Given the description of an element on the screen output the (x, y) to click on. 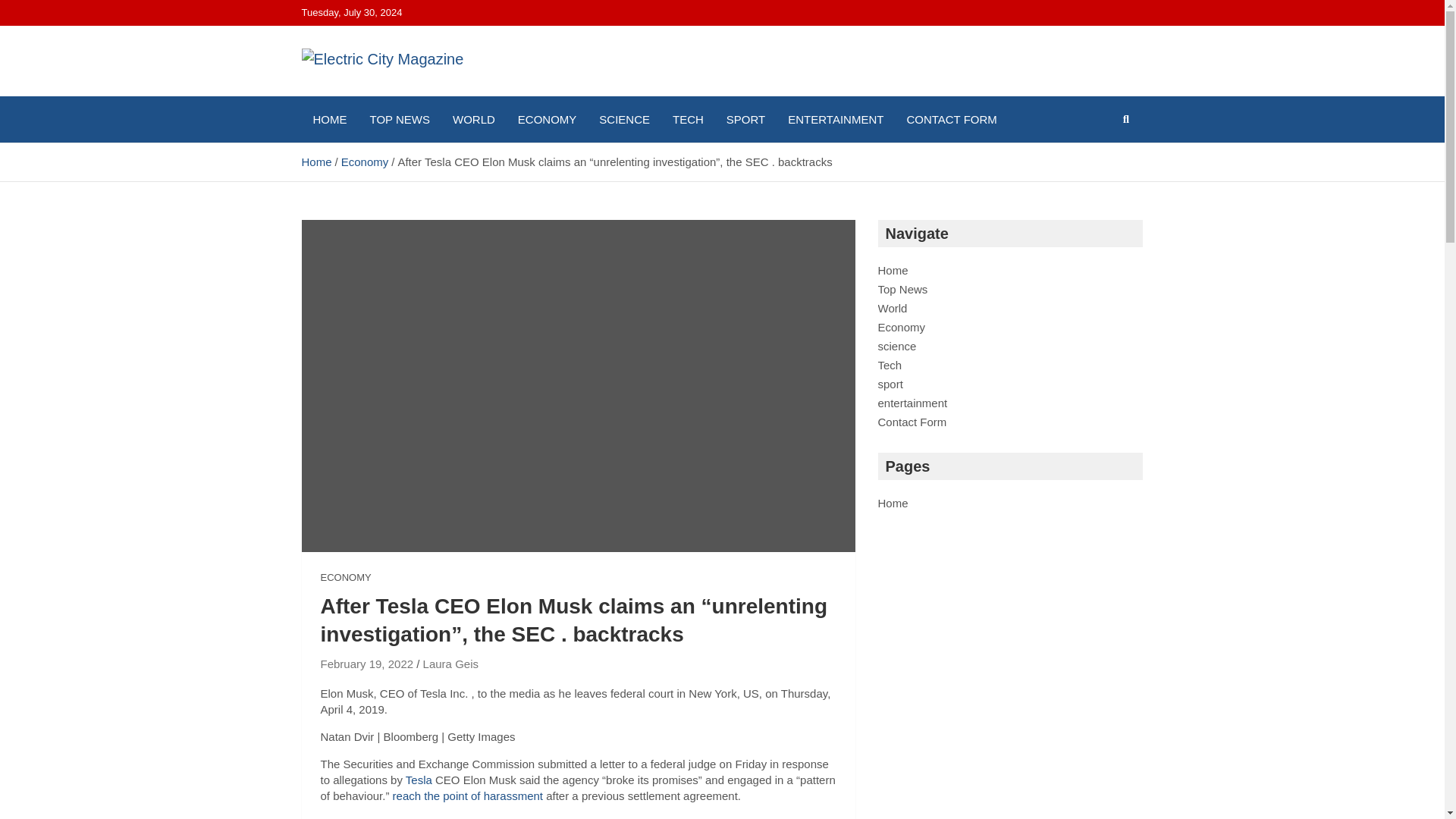
Home (892, 269)
WORLD (473, 119)
sport (889, 383)
Tesla (419, 779)
World (892, 308)
Economy (364, 161)
Top News (902, 288)
Electric City Magazine (369, 132)
February 19, 2022 (366, 663)
Tech (889, 364)
SCIENCE (624, 119)
Home (316, 161)
ECONOMY (547, 119)
ECONOMY (345, 577)
Contact Form (912, 421)
